Given the description of an element on the screen output the (x, y) to click on. 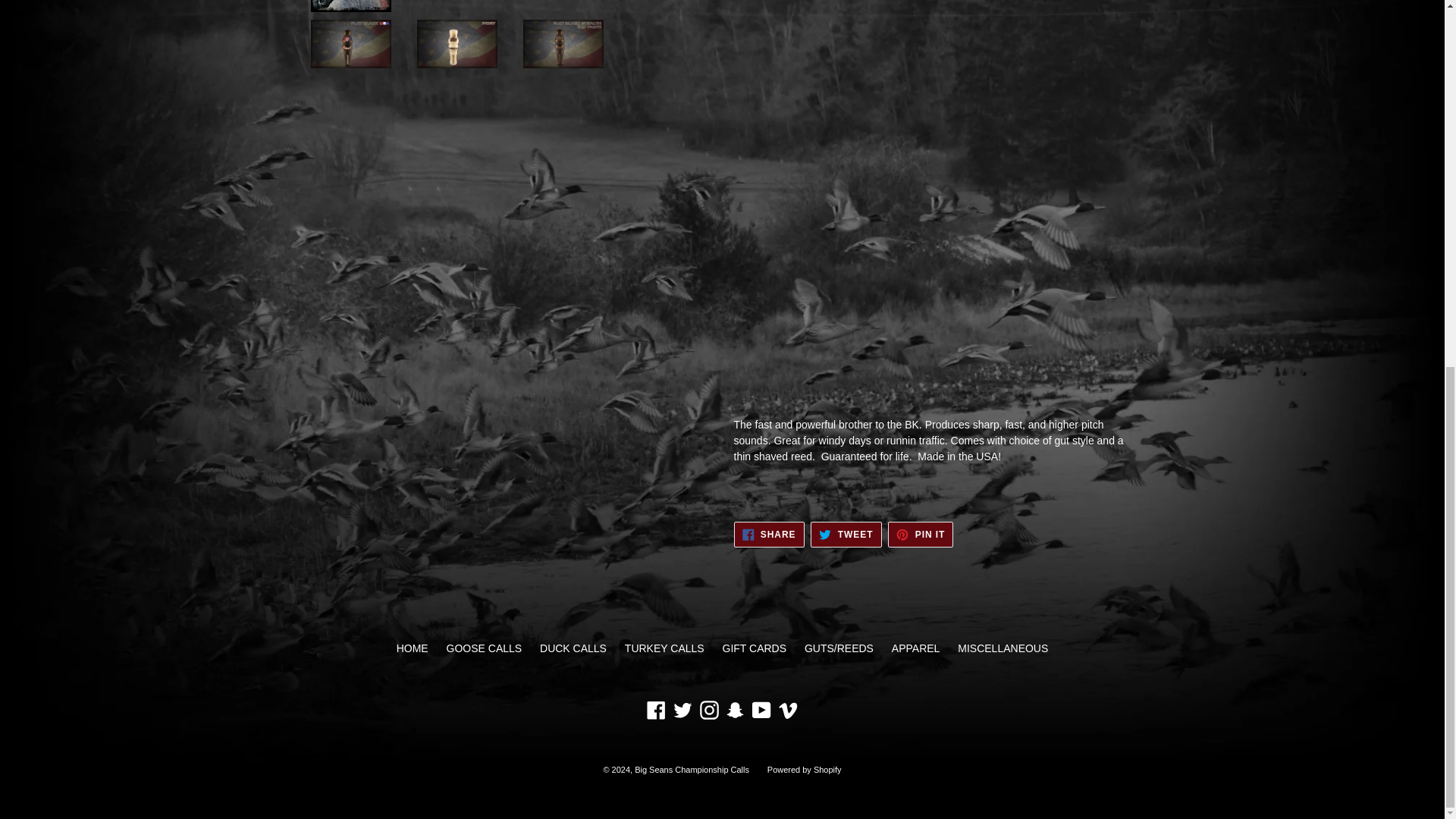
Big Seans Championship Calls on Vimeo (787, 710)
Big Seans Championship Calls on Facebook (656, 710)
Big Seans Championship Calls on Snapchat (734, 710)
Big Seans Championship Calls on YouTube (769, 534)
Big Seans Championship Calls on Twitter (920, 534)
Big Seans Championship Calls on Instagram (845, 534)
Share on Facebook (761, 710)
Tweet on Twitter (682, 710)
Pin on Pinterest (708, 710)
